Given the description of an element on the screen output the (x, y) to click on. 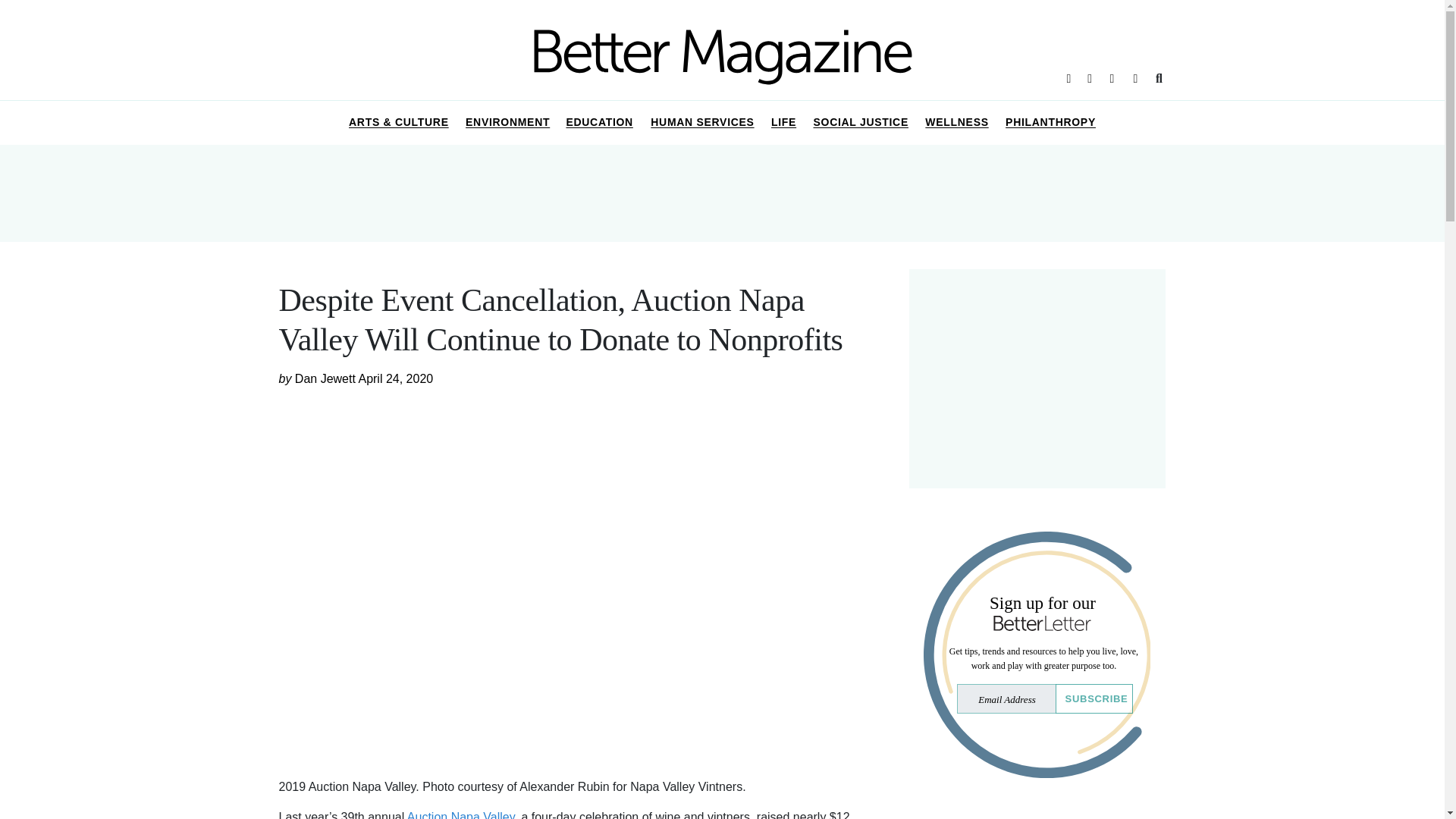
HUMAN SERVICES (702, 122)
EDUCATION (599, 122)
3rd party ad content (721, 192)
by Dan Jewett (318, 378)
PHILANTHROPY (1050, 122)
ENVIRONMENT (508, 122)
Advertisement (1037, 810)
SOCIAL JUSTICE (861, 122)
WELLNESS (957, 122)
3rd party ad content (1037, 378)
